Given the description of an element on the screen output the (x, y) to click on. 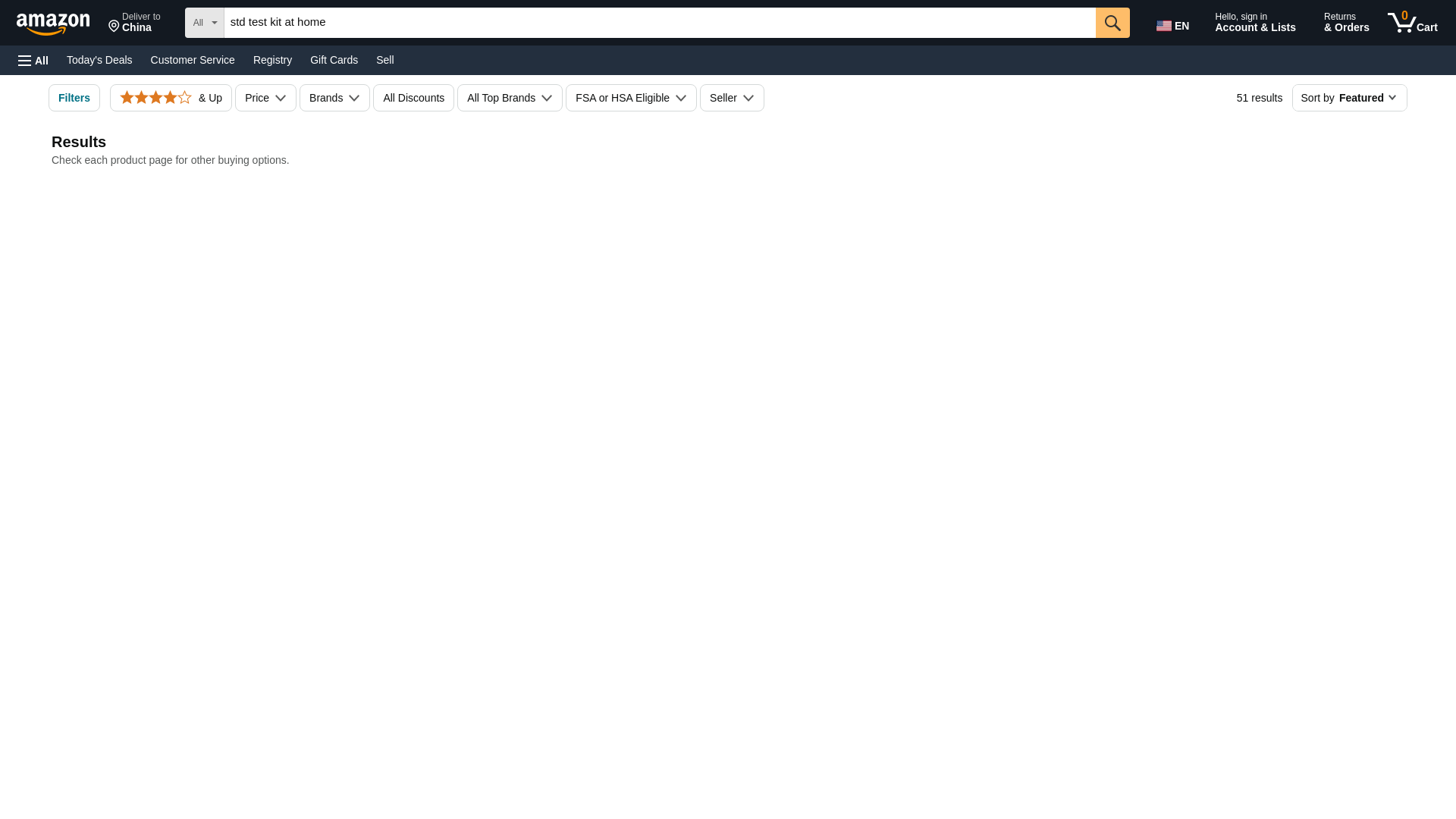
All (33, 60)
Sell (384, 59)
Go (1112, 22)
Skip to main content (60, 21)
std test kit at home (660, 22)
Filters (74, 97)
Today's Deals (99, 59)
Registry (134, 22)
Customer Service (272, 59)
